Given the description of an element on the screen output the (x, y) to click on. 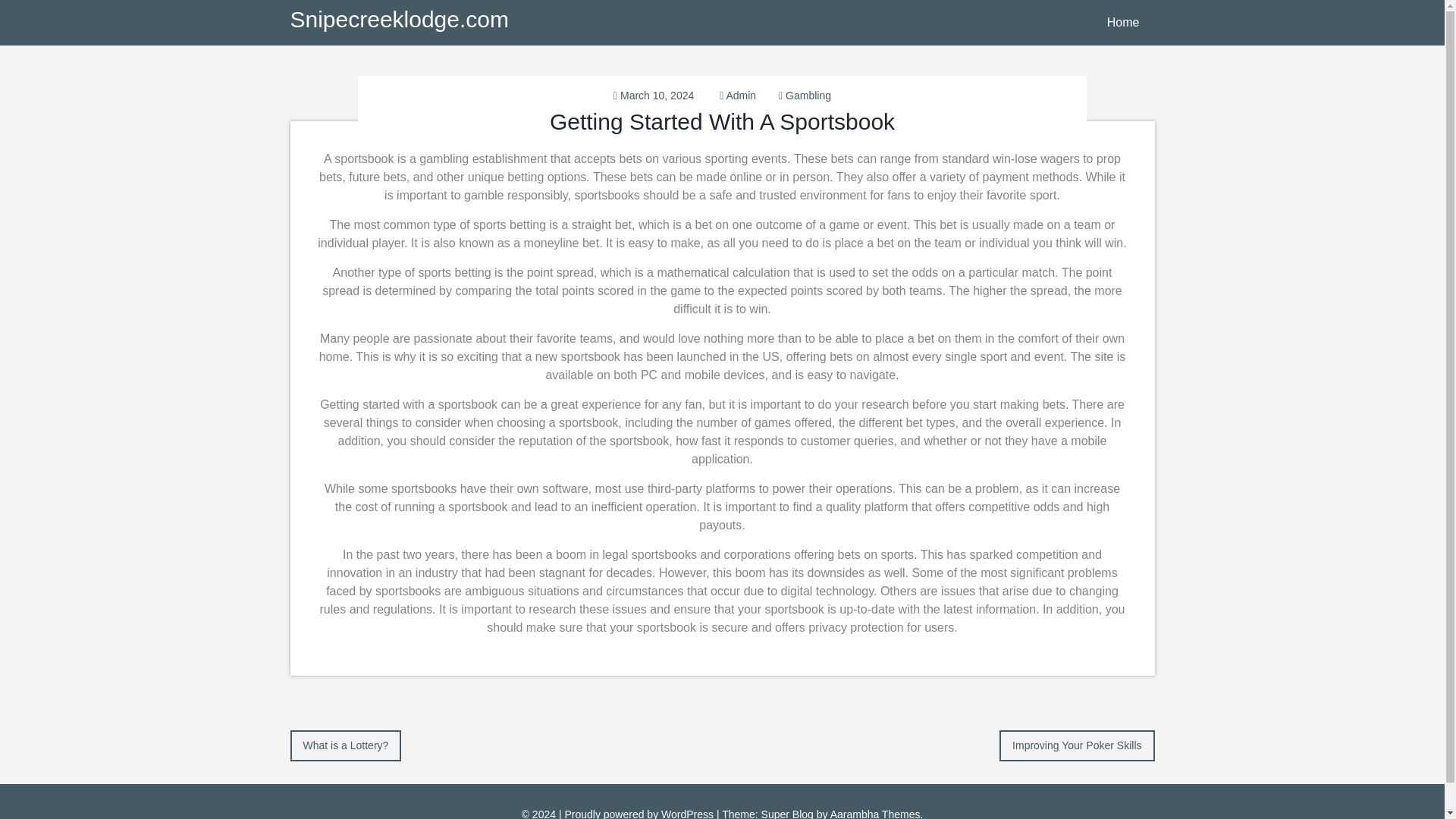
Snipecreeklodge.com (398, 18)
Gambling (808, 95)
Admin (740, 95)
Aarambha Themes (874, 813)
March 10, 2024 (657, 95)
What is a Lottery? (345, 744)
Improving Your Poker Skills (1076, 744)
WordPress (687, 813)
